Given the description of an element on the screen output the (x, y) to click on. 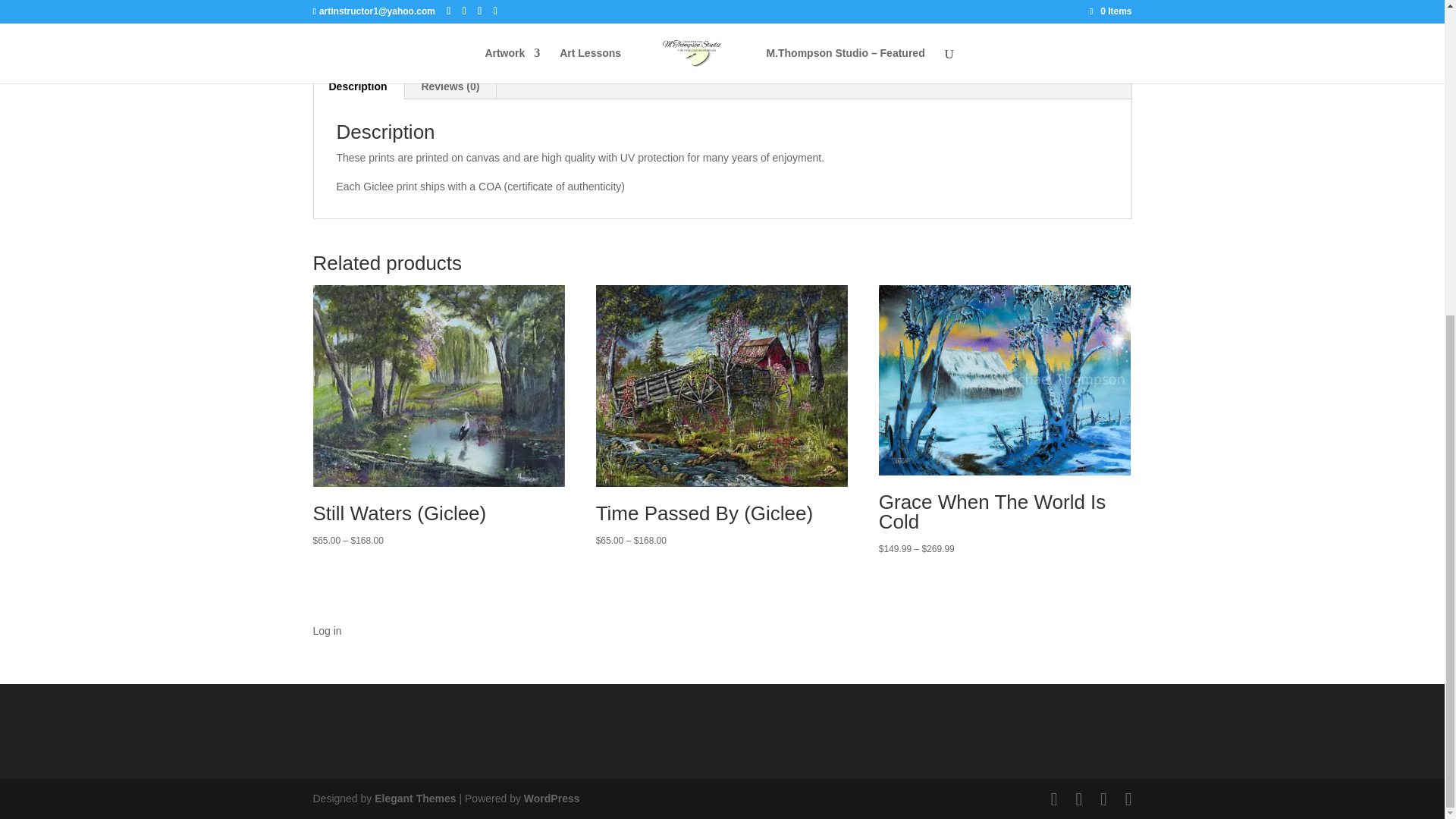
Description (358, 86)
Premium WordPress Themes (414, 798)
Purchase Gallery (876, 19)
Grace When The World Is Cold (1005, 380)
